Given the description of an element on the screen output the (x, y) to click on. 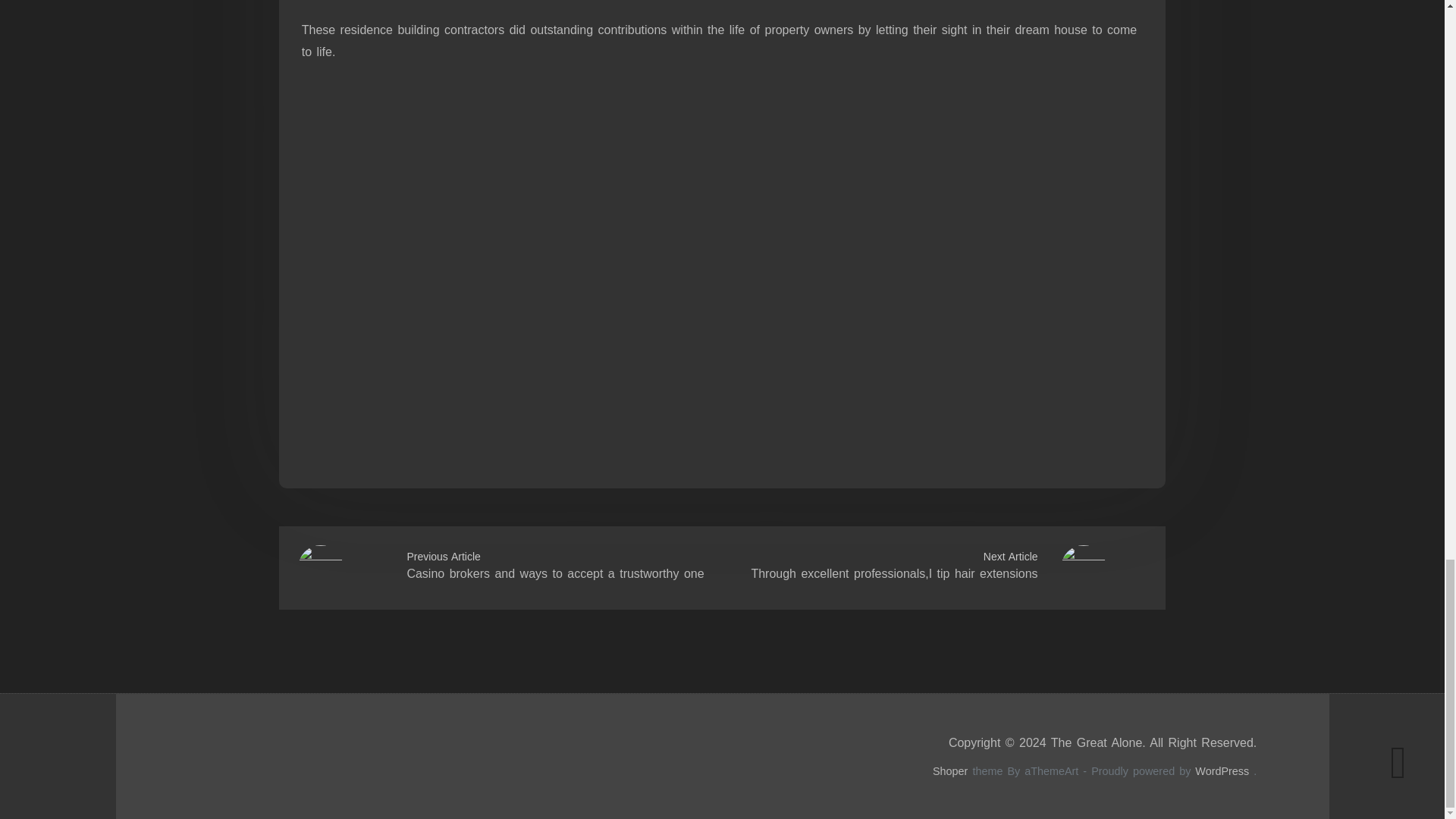
Casino brokers and ways to accept a trustworthy one (554, 573)
Through excellent professionals,I tip hair extensions (893, 573)
Shoper (950, 770)
WordPress (1222, 770)
